Given the description of an element on the screen output the (x, y) to click on. 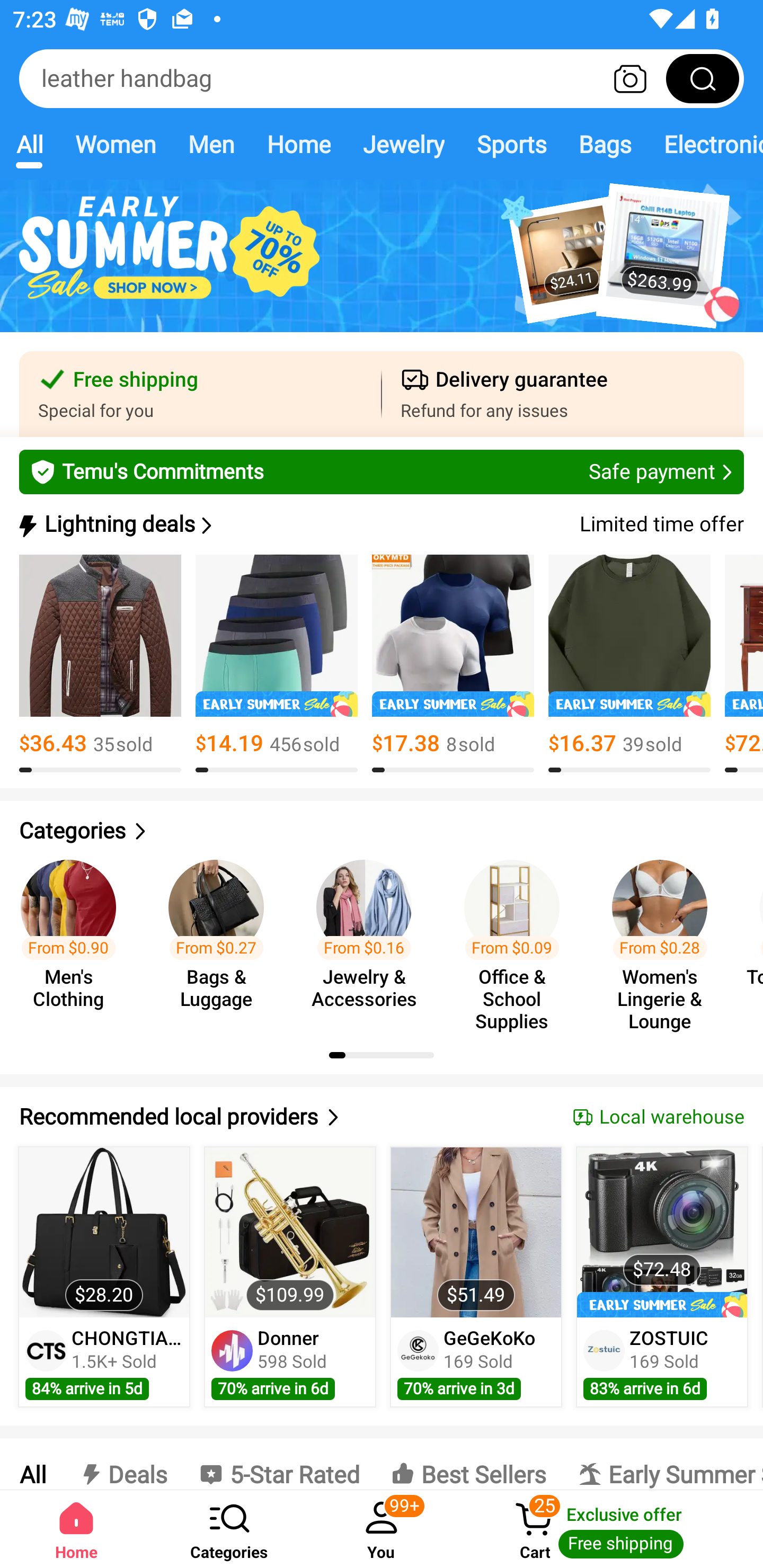
leather handbag (381, 78)
All (29, 144)
Women (115, 144)
Men (211, 144)
Home (298, 144)
Jewelry (403, 144)
Sports (511, 144)
Bags (605, 144)
Electronics (705, 144)
$24.11 $263.99 (381, 265)
Free shipping Special for you (200, 394)
Delivery guarantee Refund for any issues (562, 394)
Temu's Commitments (381, 471)
Lightning deals Lightning deals Limited time offer (379, 524)
$36.43 35￼sold 8.0 (100, 664)
$14.19 456￼sold 8.0 (276, 664)
$17.38 8￼sold 8.0 (453, 664)
$16.37 39￼sold 8.0 (629, 664)
Categories (381, 830)
From $0.90 Men's Clothing (74, 936)
From $0.27 Bags & Luggage (222, 936)
From $0.16 Jewelry & Accessories (369, 936)
From $0.09 Office & School Supplies (517, 936)
From $0.28 Women's Lingerie & Lounge (665, 936)
$28.20 CHONGTIANSHU 1.5K+ Sold 84% arrive in 5d (103, 1276)
$109.99 Donner 598 Sold 70% arrive in 6d (289, 1276)
$51.49 GeGeKoKo 169 Sold 70% arrive in 3d (475, 1276)
$72.48 ZOSTUIC 169 Sold 83% arrive in 6d (661, 1276)
$28.20 (104, 1232)
$109.99 (290, 1232)
$51.49 (475, 1232)
$72.48 (661, 1232)
All (32, 1463)
Deals Deals Deals (122, 1463)
5-Star Rated 5-Star Rated 5-Star Rated (279, 1463)
Best Sellers Best Sellers Best Sellers (468, 1463)
Home (76, 1528)
Categories (228, 1528)
You ‎99+‎ You (381, 1528)
Cart 25 Cart Exclusive offer (610, 1528)
